Given the description of an element on the screen output the (x, y) to click on. 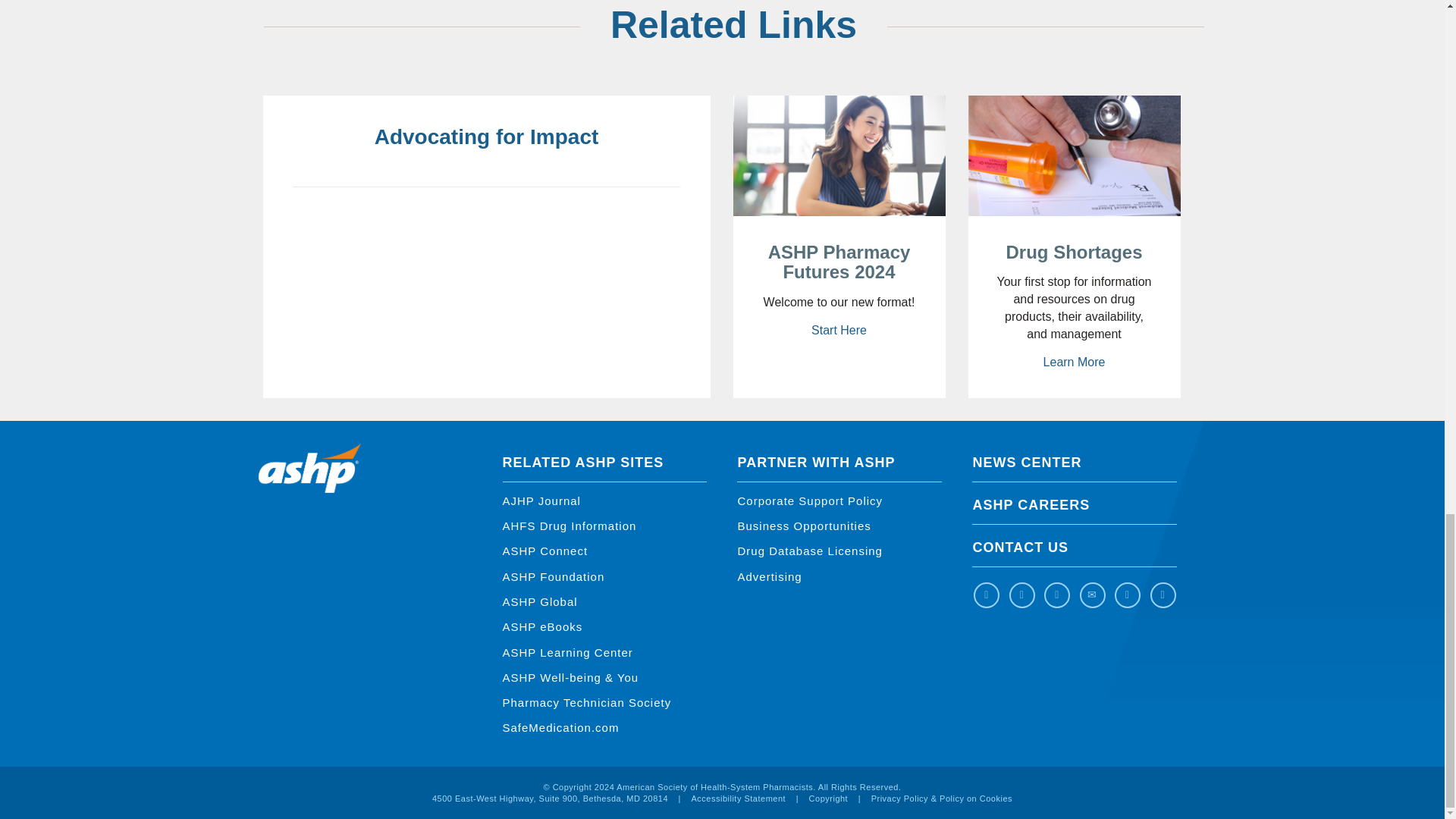
Advertising (769, 576)
